Given the description of an element on the screen output the (x, y) to click on. 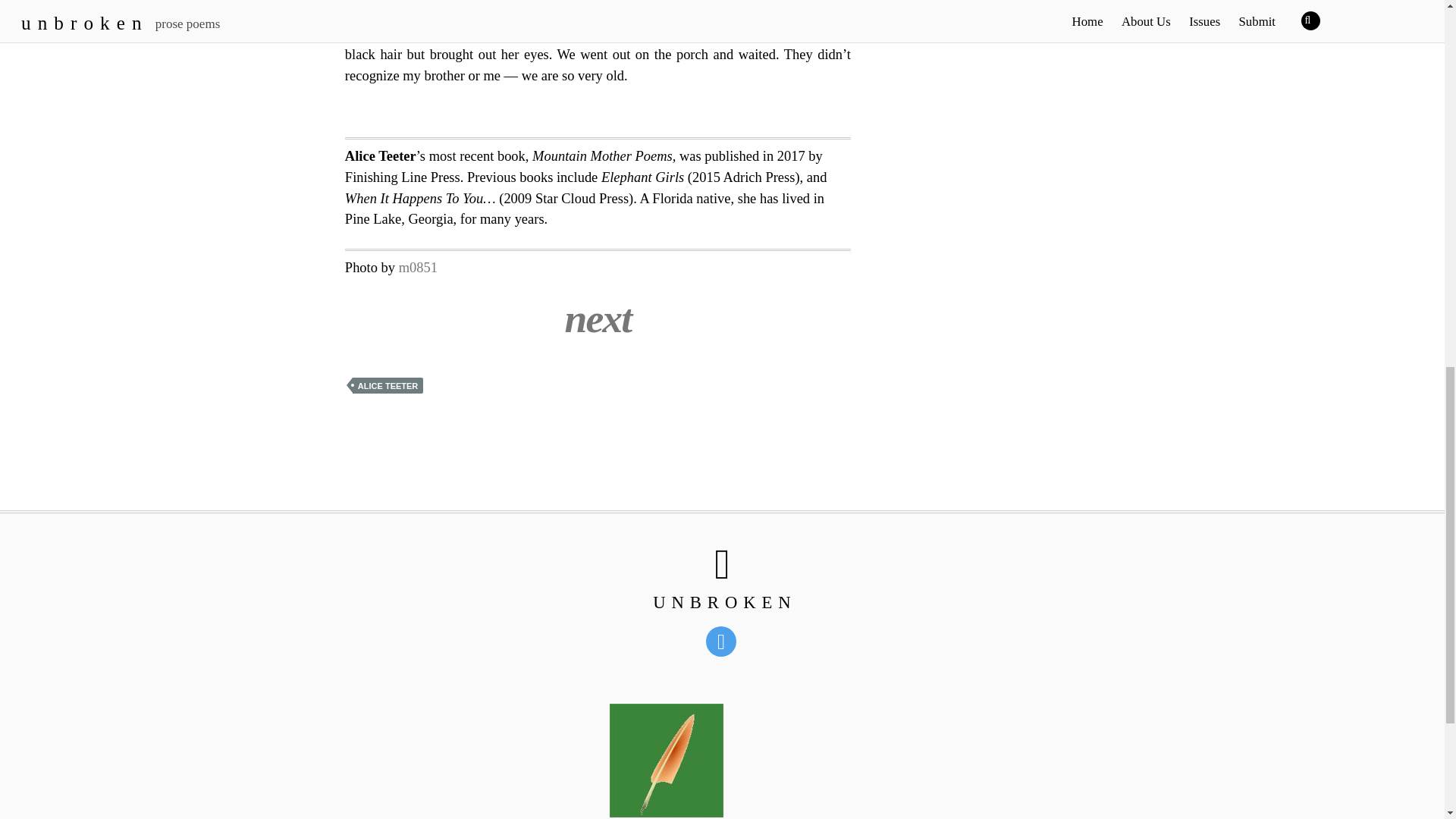
m0851 (418, 267)
U n b r o k e n (722, 601)
next (597, 318)
U N B R O K E N (722, 601)
Twitter (723, 640)
ALICE TEETER (387, 385)
